Given the description of an element on the screen output the (x, y) to click on. 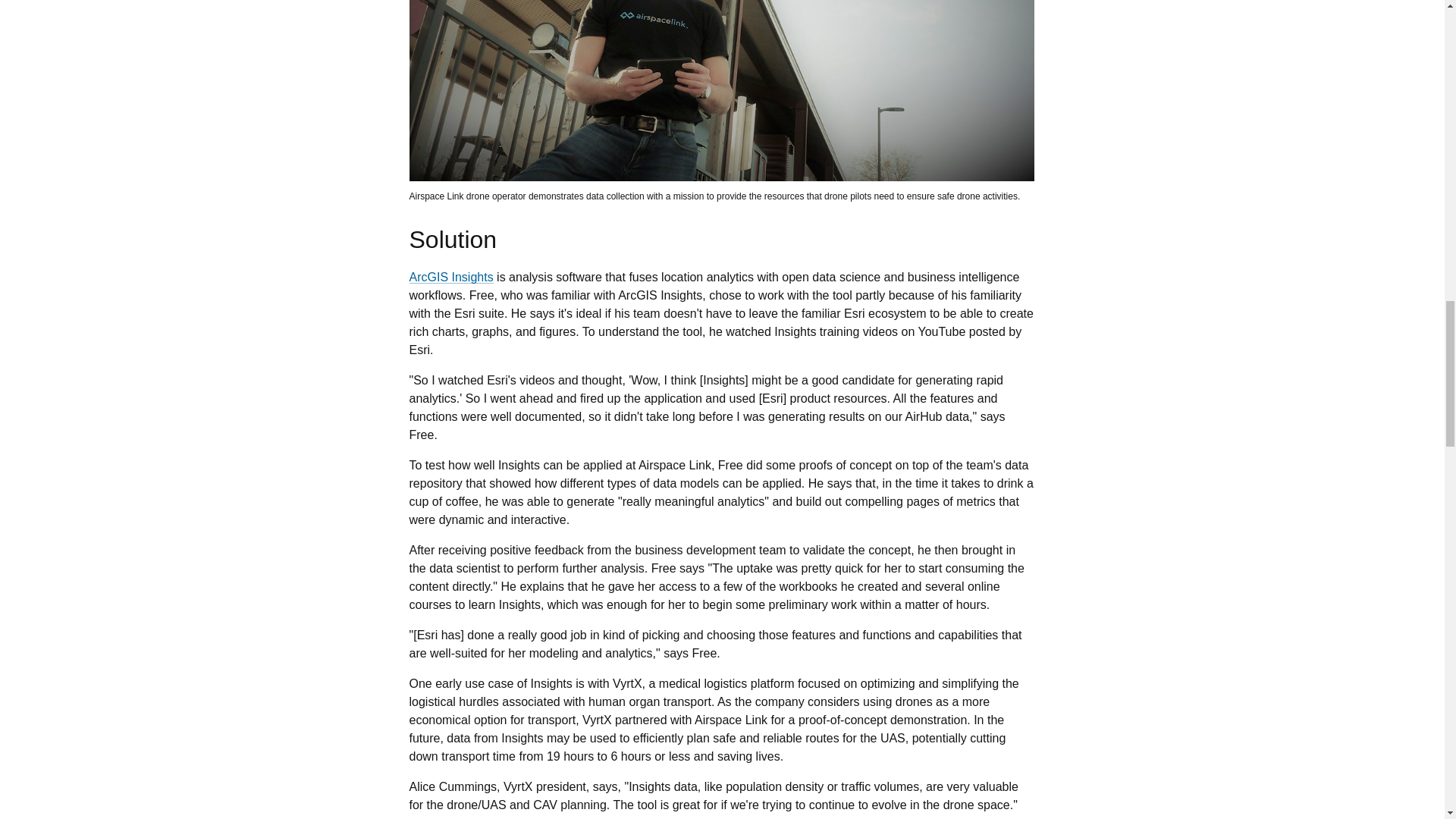
ArcGIS Insights (451, 277)
